Given the description of an element on the screen output the (x, y) to click on. 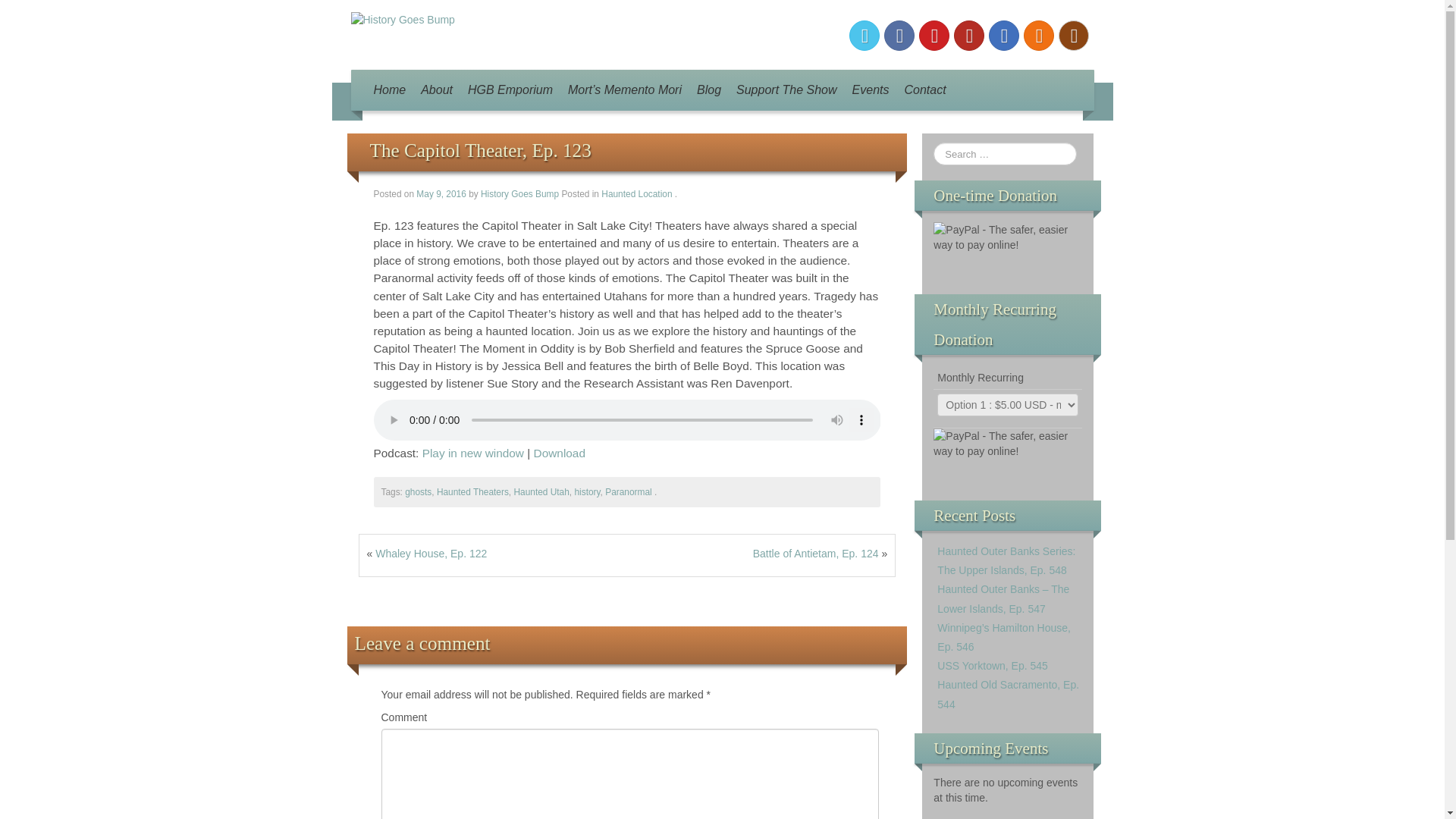
Blog (708, 89)
History Goes Bump Email (1003, 35)
Haunted Theaters (472, 491)
USS Yorktown, Ep. 545 (992, 665)
Play in new window (473, 452)
About (436, 89)
Support The Show (786, 89)
6:12 am (442, 194)
History Goes Bump (402, 19)
View all posts by History Goes Bump (519, 194)
Haunted Old Sacramento, Ep. 544 (1007, 694)
May 9, 2016 (442, 194)
Play in new window (473, 452)
History Goes Bump Pinterest (933, 35)
History Goes Bump Rss (1038, 35)
